Given the description of an element on the screen output the (x, y) to click on. 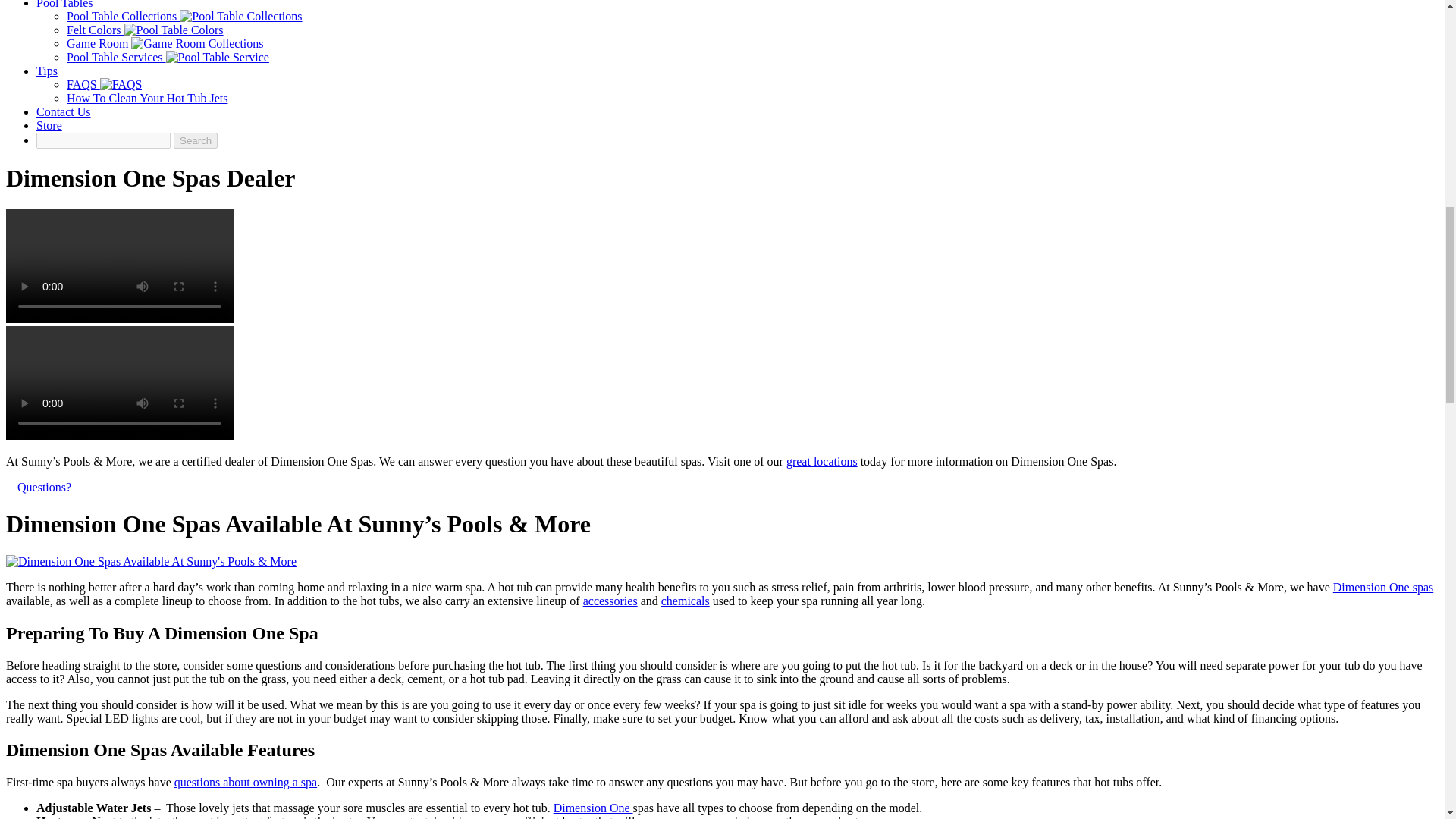
Search (194, 140)
